Given the description of an element on the screen output the (x, y) to click on. 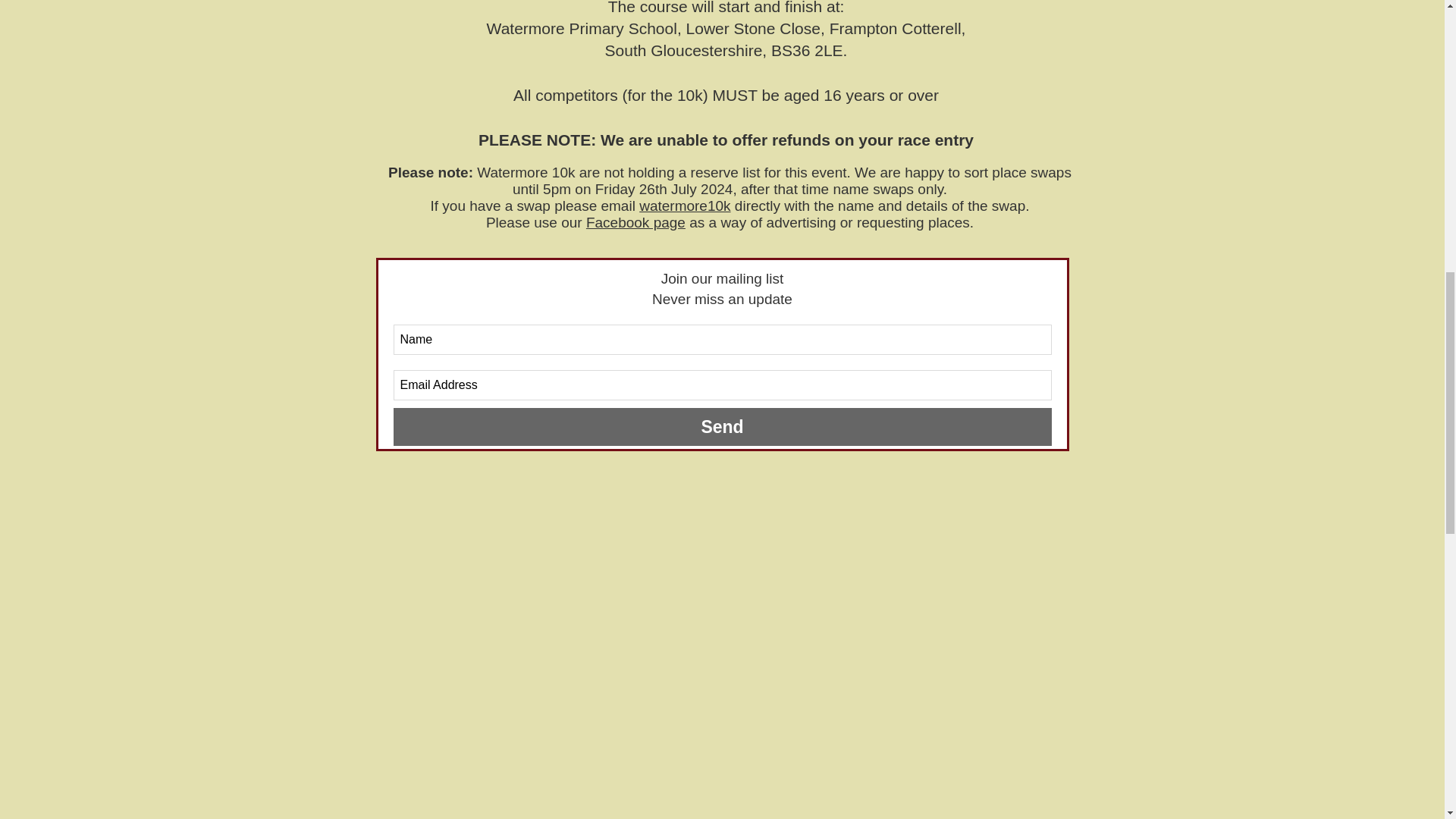
Send (722, 426)
Facebook page (635, 222)
watermore10k (684, 205)
